Given the description of an element on the screen output the (x, y) to click on. 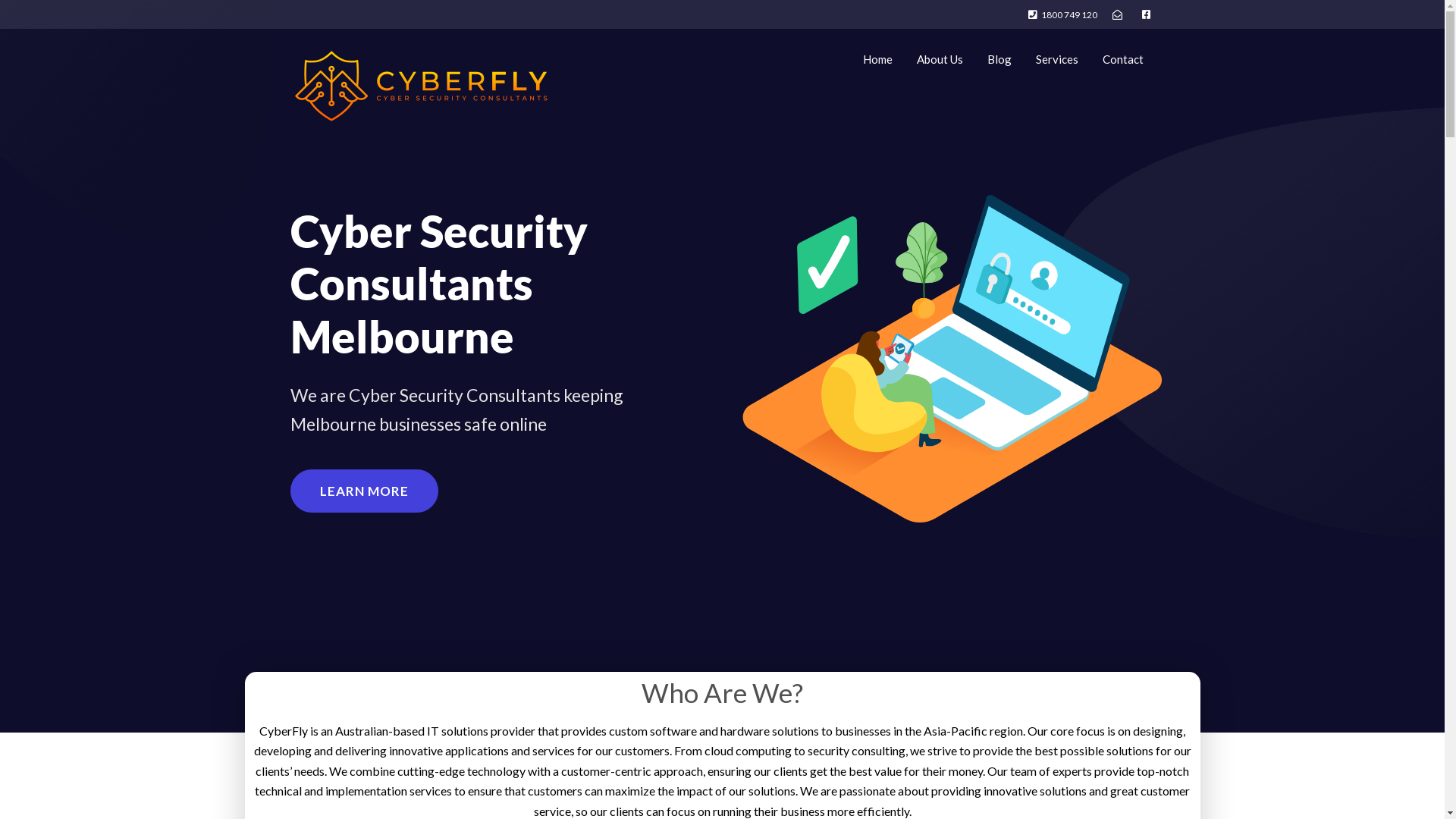
About Us Element type: text (939, 59)
1800 749 120 Element type: text (1062, 14)
Home Element type: text (877, 59)
Blog Element type: text (999, 59)
LEARN MORE Element type: text (363, 490)
Services Element type: text (1056, 59)
1 Element type: hover (951, 357)
Contact Element type: text (1122, 59)
